Given the description of an element on the screen output the (x, y) to click on. 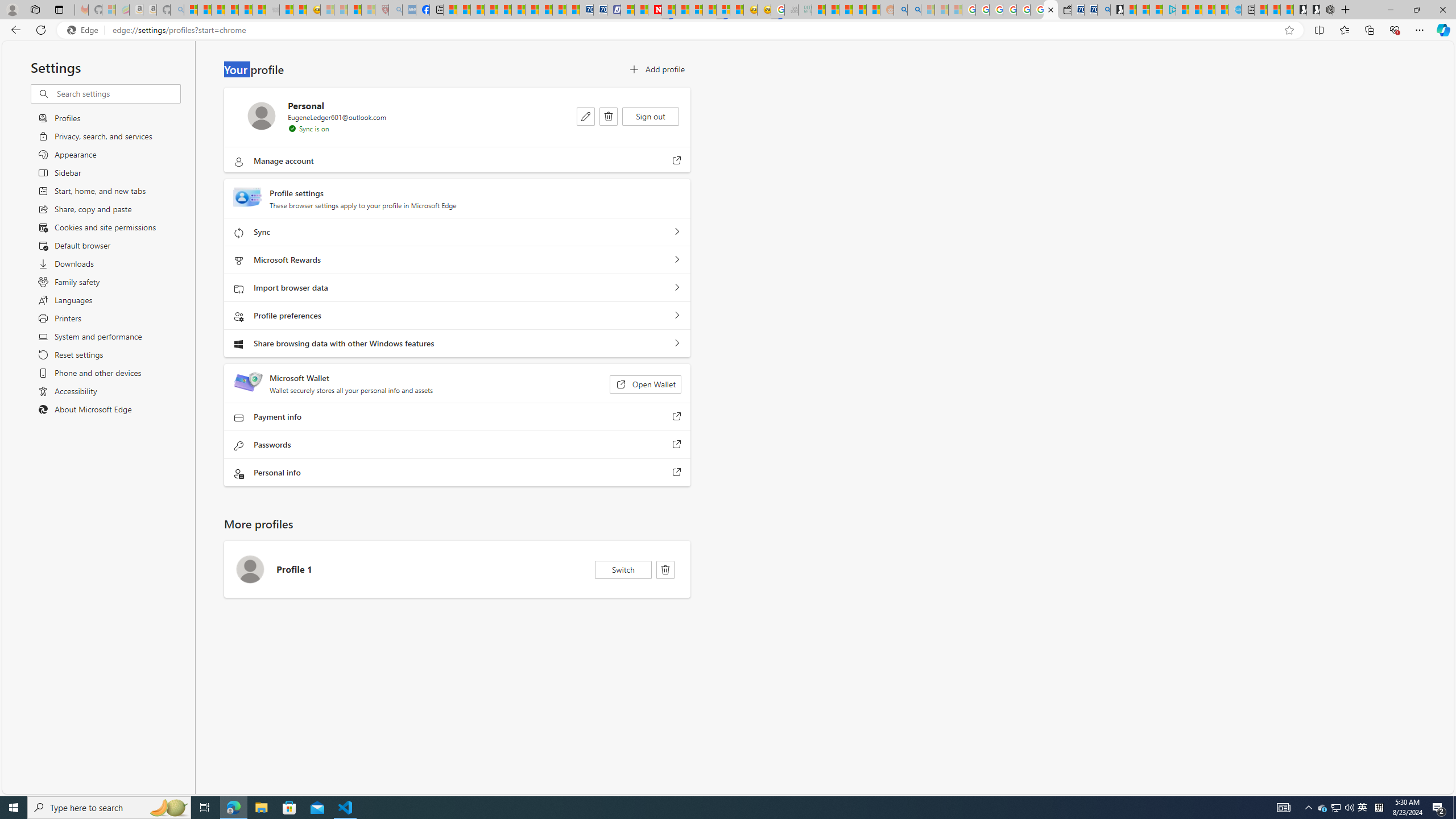
Microsoft Start Gaming (1116, 9)
Recipes - MSN - Sleeping (327, 9)
Microsoft Rewards (676, 259)
Personal info (676, 472)
Bing Real Estate - Home sales and rental listings (1103, 9)
Class: c011143 (665, 569)
Cheap Car Rentals - Save70.com (1090, 9)
Microsoft Start - Sleeping (927, 9)
